Given the description of an element on the screen output the (x, y) to click on. 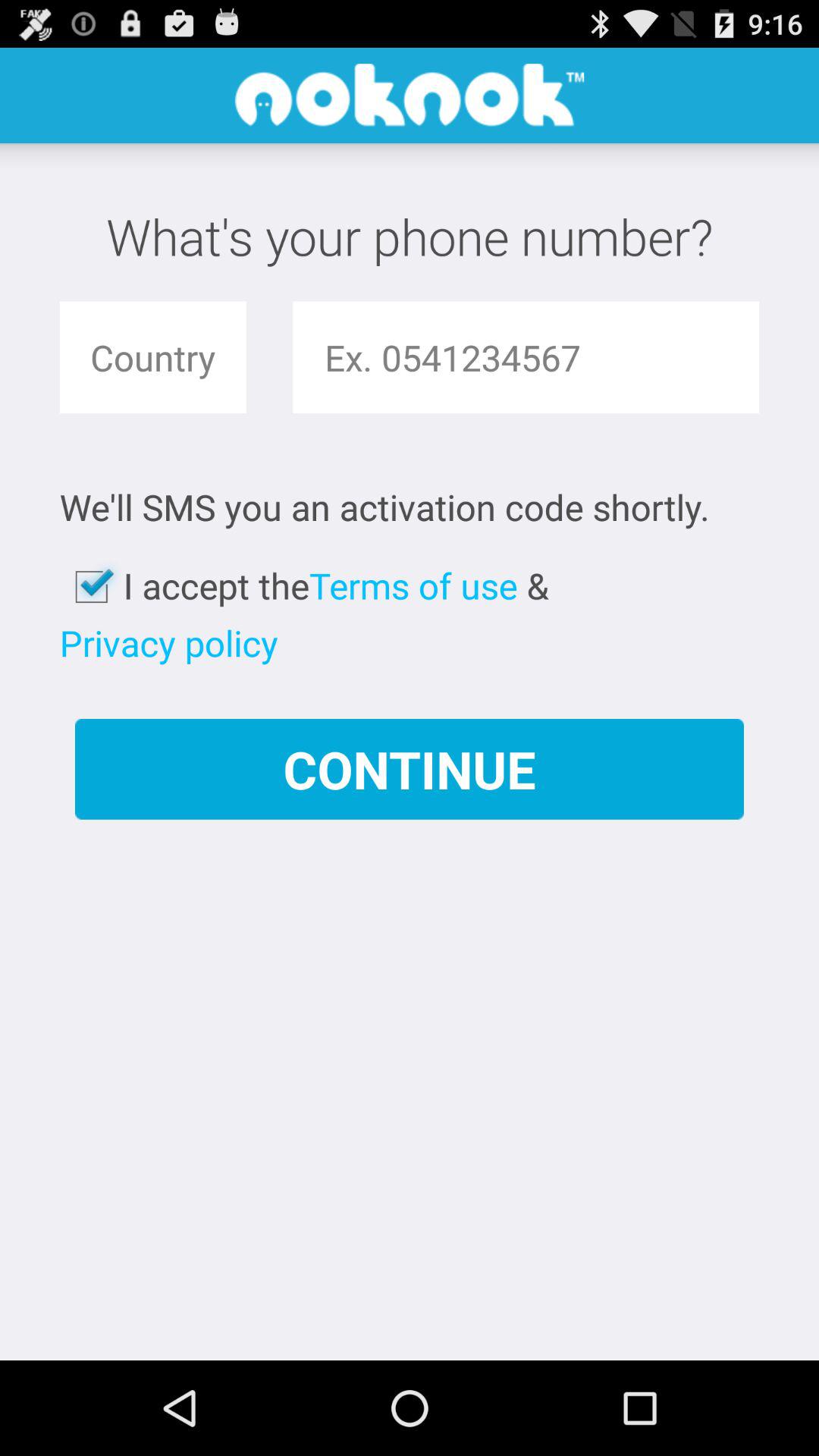
select the item above the privacy policy app (91, 586)
